Given the description of an element on the screen output the (x, y) to click on. 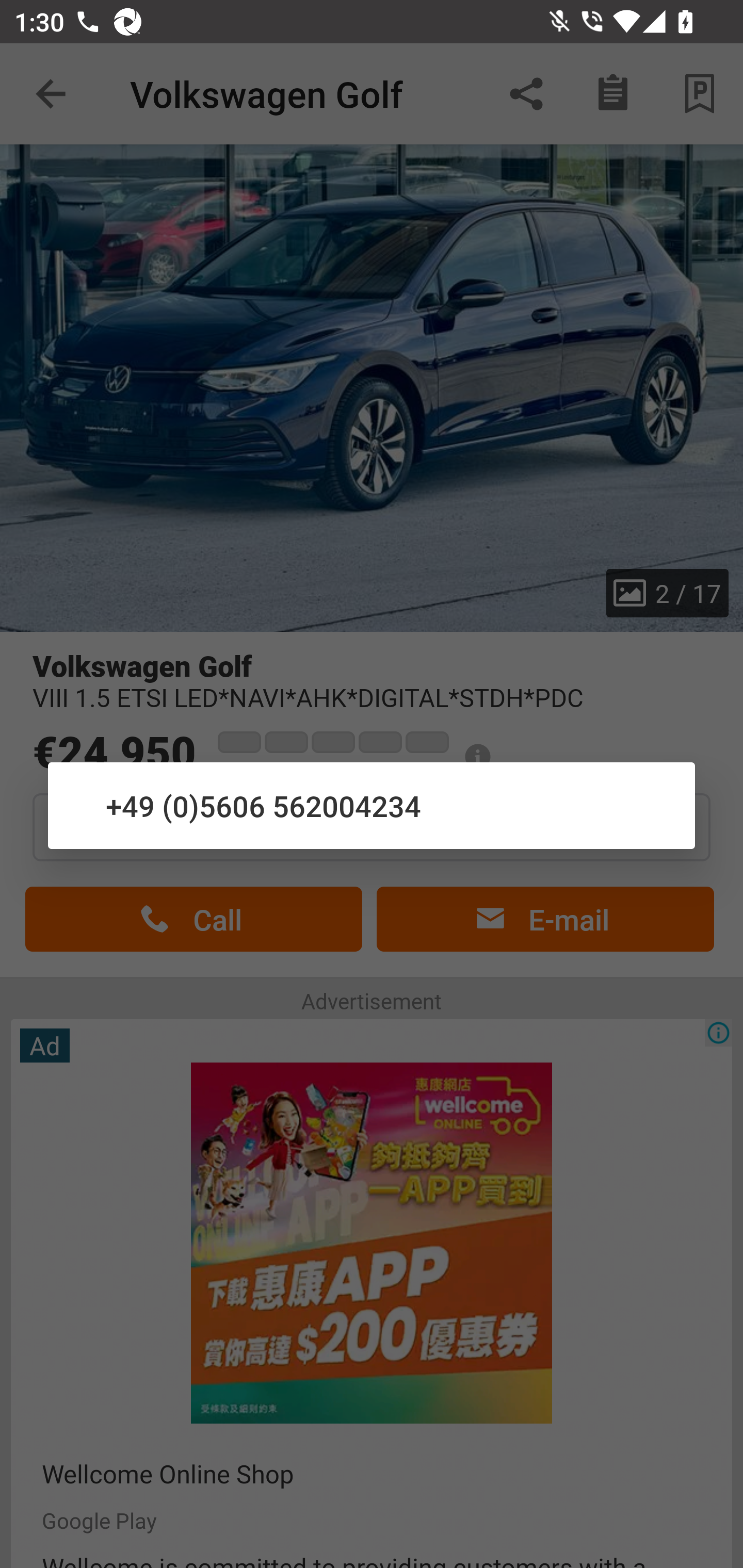
+49 (0)5606 562004234 (371, 805)
